Given the description of an element on the screen output the (x, y) to click on. 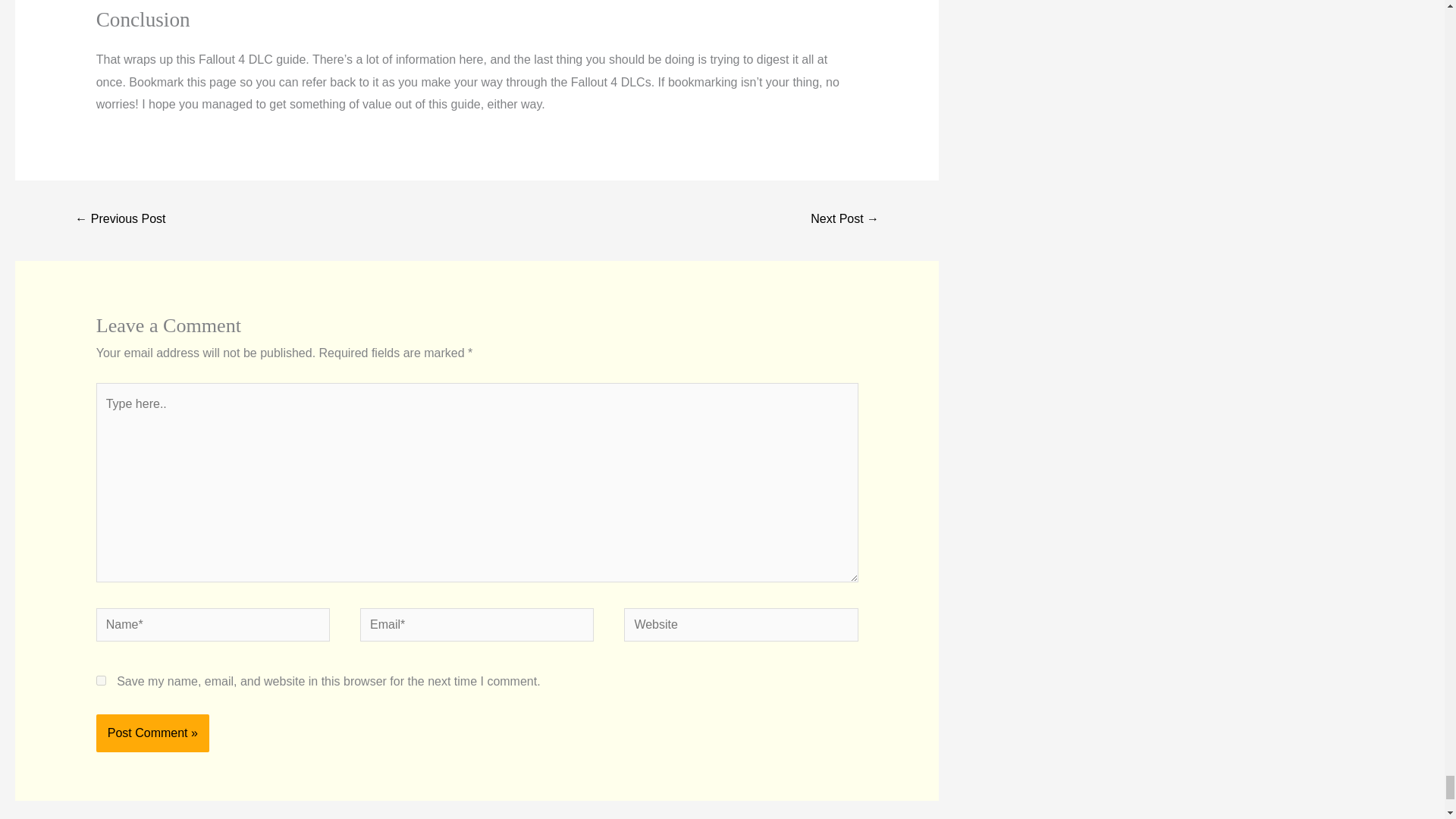
Fallout 76 Copper Guide (119, 220)
Best Fallout Themed Hoodies Guide (844, 220)
yes (101, 680)
